Given the description of an element on the screen output the (x, y) to click on. 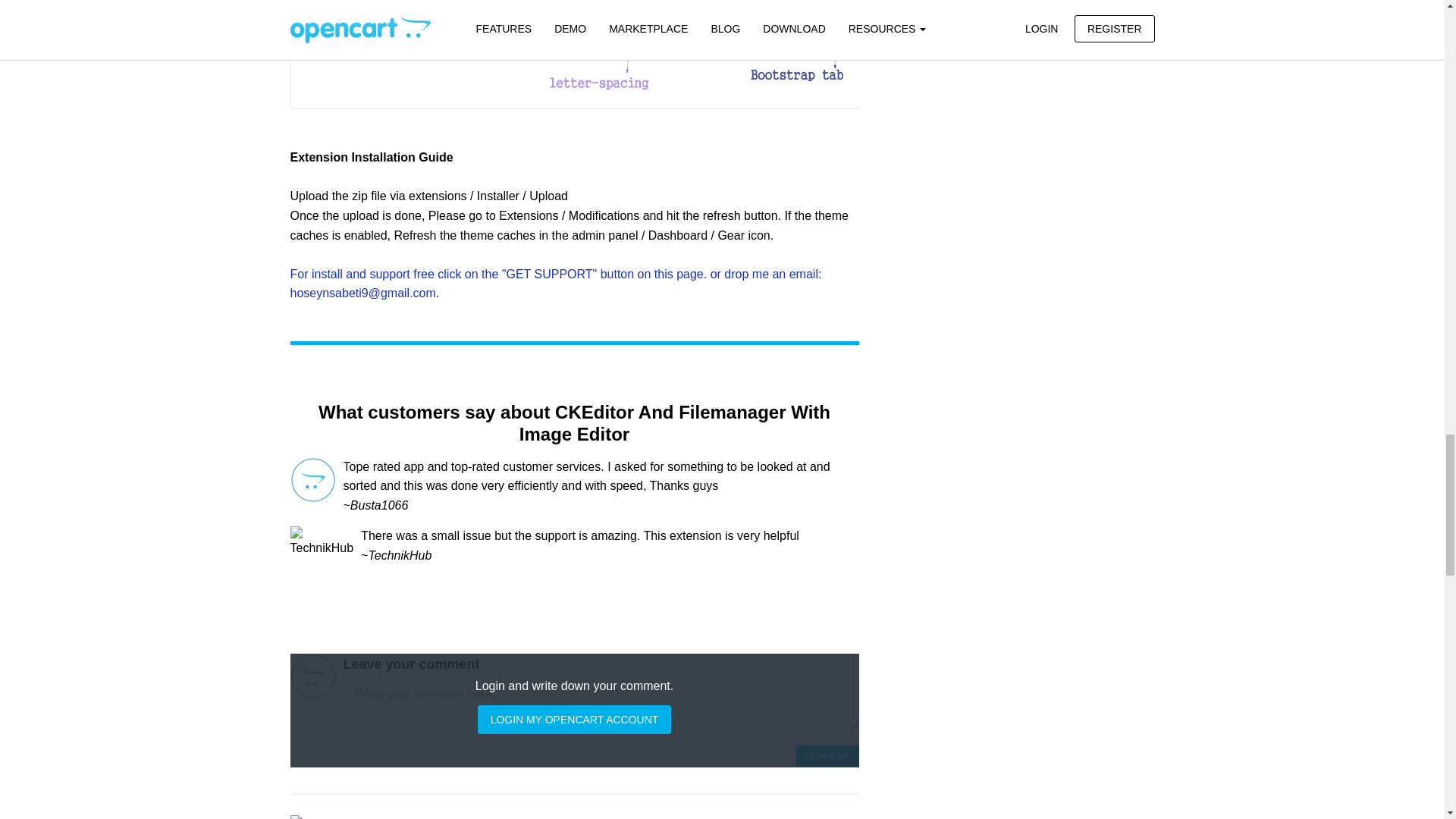
TechnikHub (321, 541)
LOGIN MY OPENCART ACCOUNT (574, 719)
COMMENT (827, 756)
Busta1066 (311, 479)
